Given the description of an element on the screen output the (x, y) to click on. 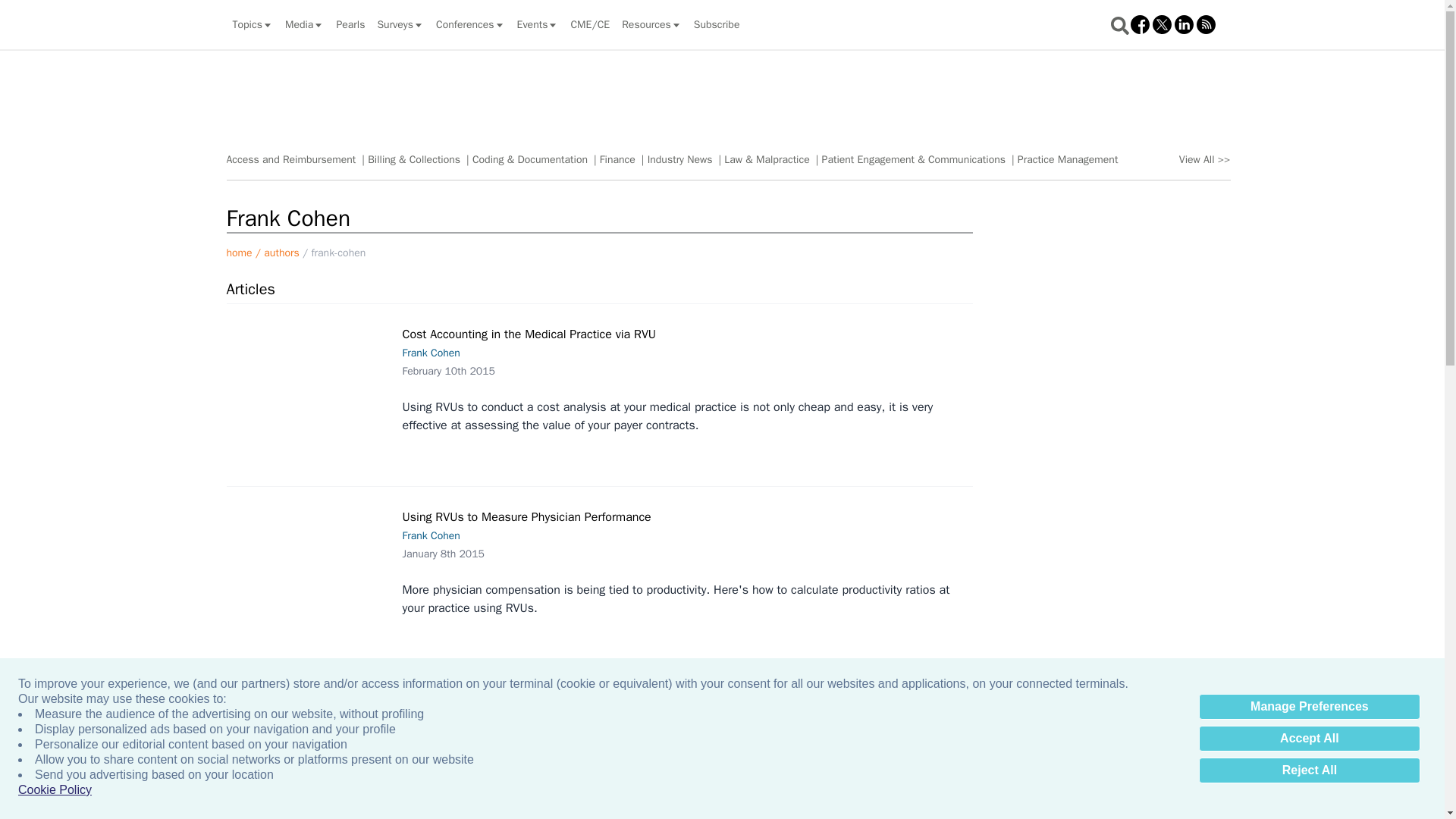
Cookie Policy (54, 789)
Subscribe (716, 23)
Using RVUs to Measure Physician Performance (311, 562)
Reject All (1309, 769)
Accept All (1309, 738)
Manage Preferences (1309, 706)
Pearls (350, 23)
Cost Accounting in the Medical Practice via RVU (311, 367)
